Given the description of an element on the screen output the (x, y) to click on. 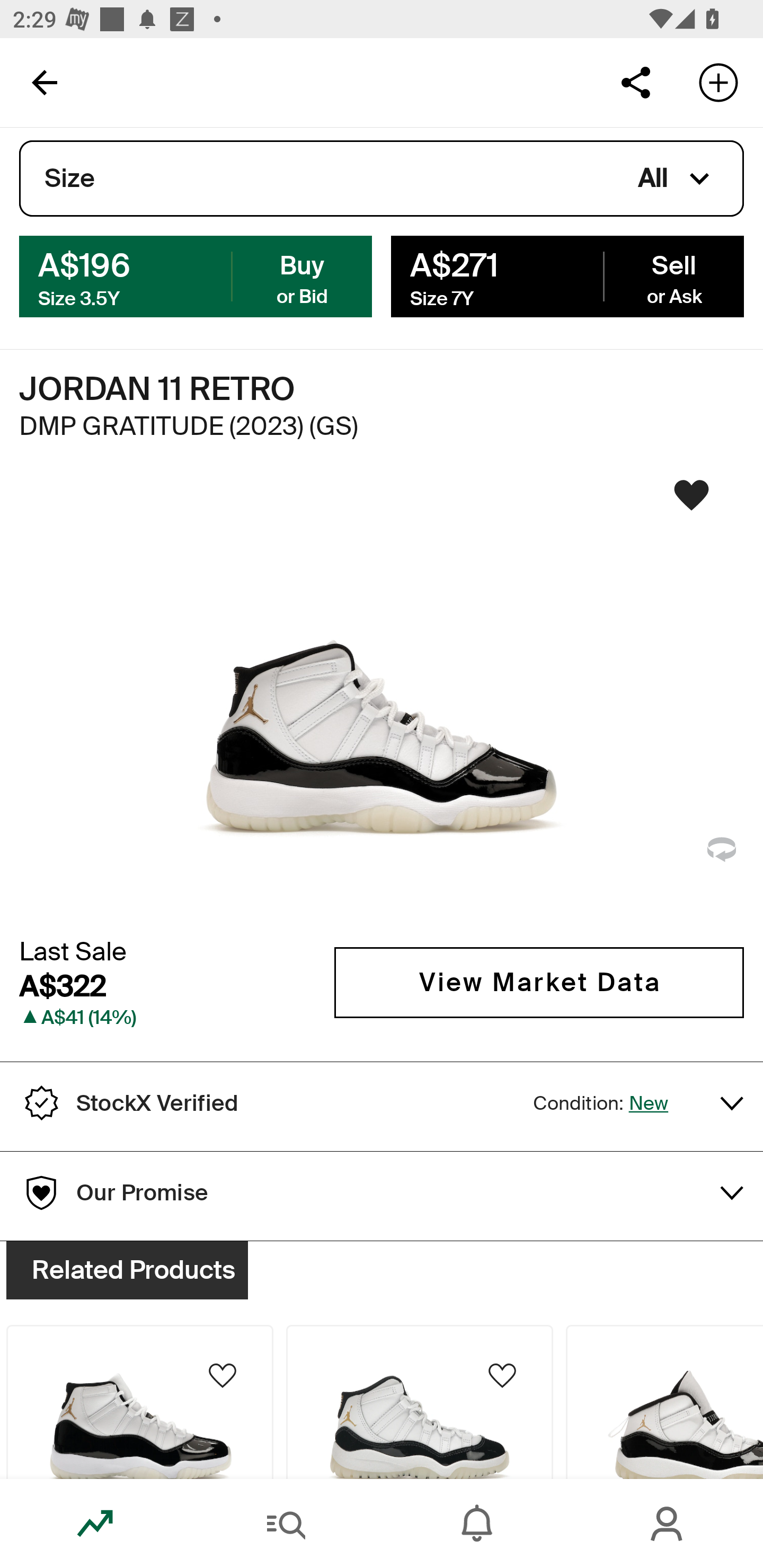
Share (635, 81)
Add (718, 81)
Size All (381, 178)
A$210 Buy Size 4.5 or Bid (195, 275)
A$407 Sell Size 14 or Ask (566, 275)
Sneaker Image (381, 699)
View Market Data (538, 982)
Product Image (139, 1401)
Product Image (419, 1401)
Product Image (664, 1401)
Search (285, 1523)
Inbox (476, 1523)
Account (667, 1523)
